Given the description of an element on the screen output the (x, y) to click on. 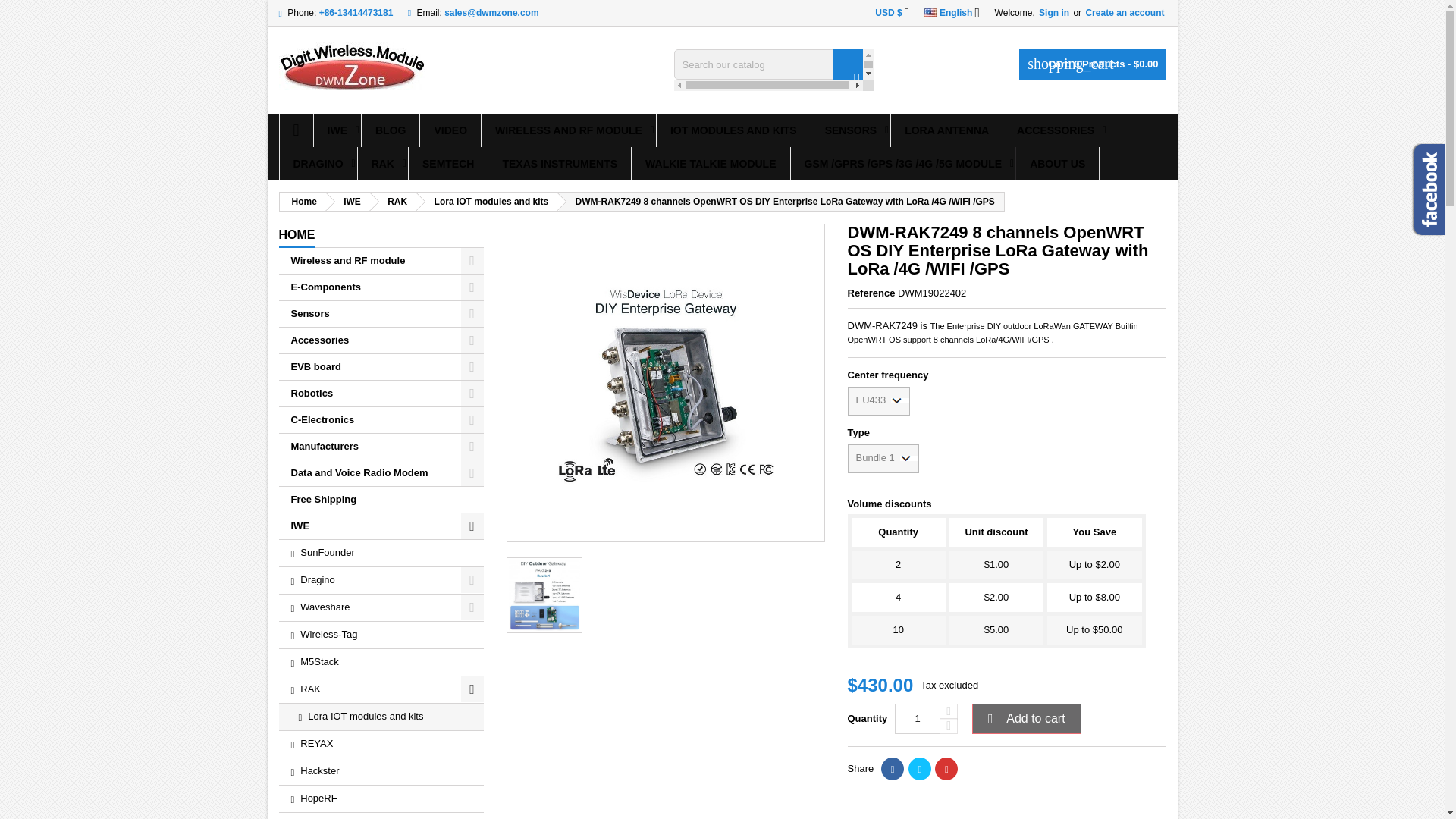
Create an account (1124, 12)
IWE (337, 130)
Sign in (1053, 12)
Categories (297, 235)
Log in to your customer account (1124, 12)
Log in to your customer account (1053, 12)
1 (917, 718)
